Given the description of an element on the screen output the (x, y) to click on. 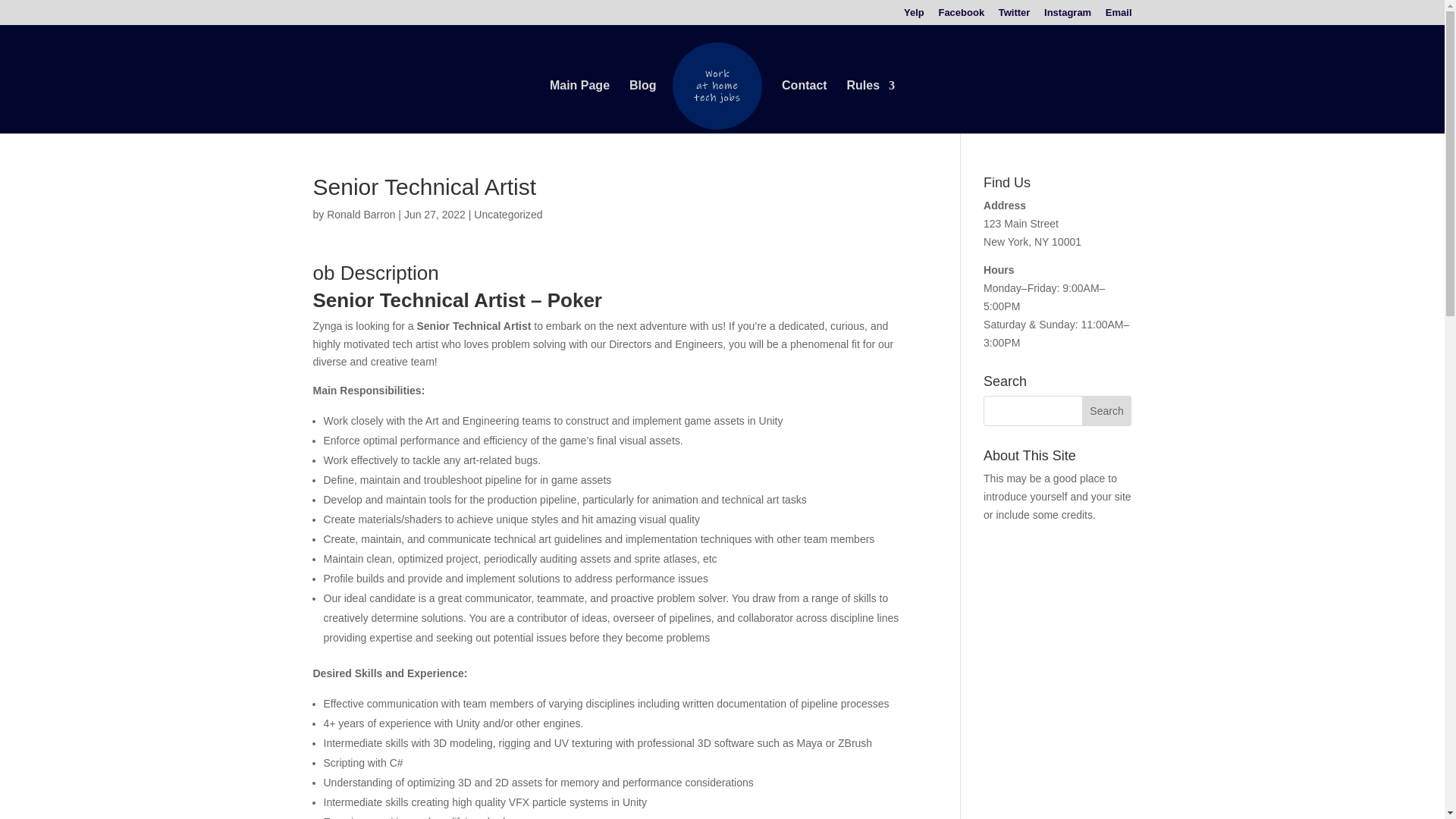
Search (1106, 410)
Yelp (914, 16)
Instagram (1066, 16)
Facebook (960, 16)
Email (1118, 16)
Search (1106, 410)
Main Page (580, 106)
Rules (870, 106)
Ronald Barron (360, 214)
Uncategorized (507, 214)
Posts by Ronald Barron (360, 214)
Twitter (1014, 16)
